Given the description of an element on the screen output the (x, y) to click on. 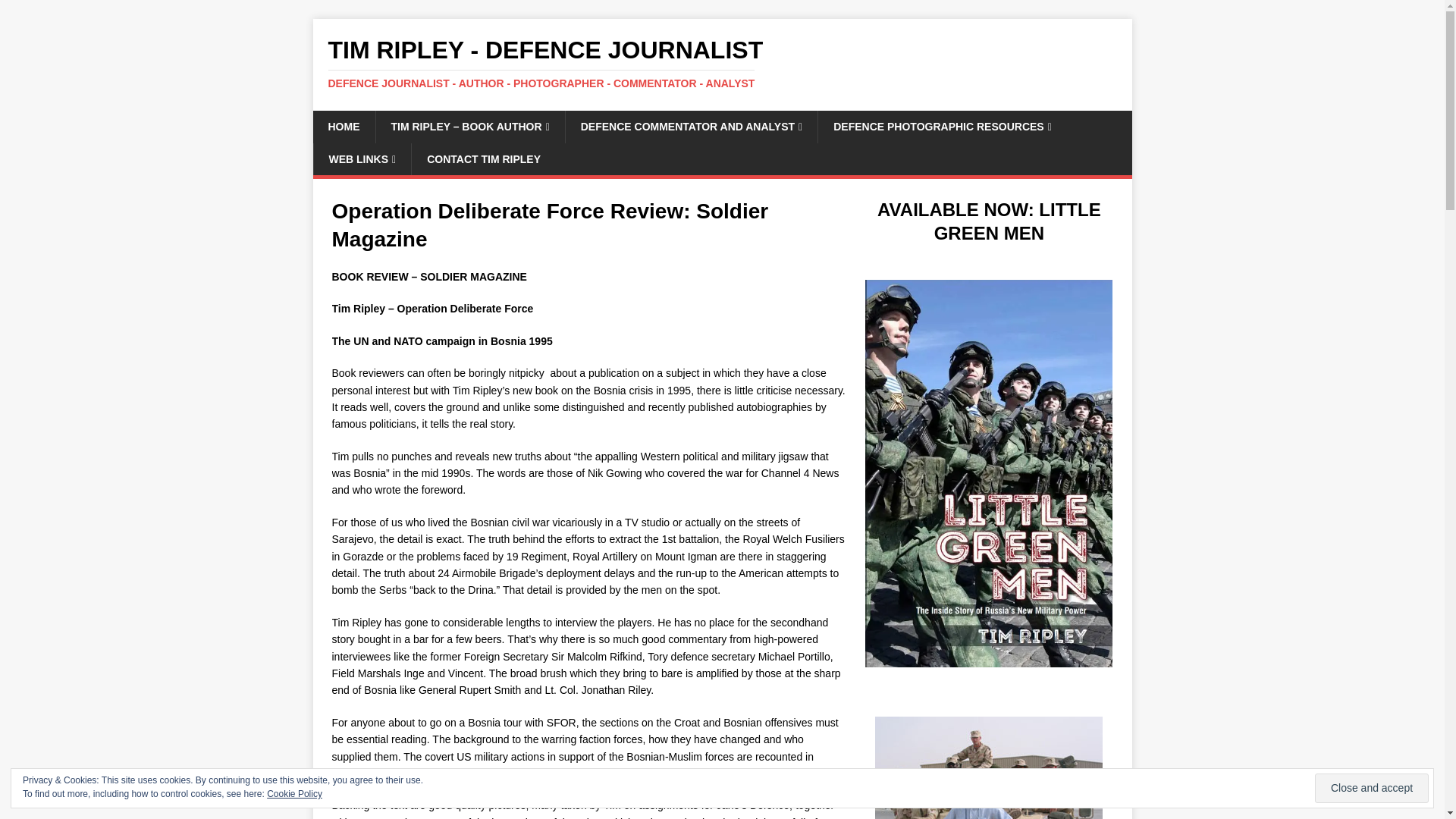
Tim Ripley - Defence Journalist (721, 63)
Close and accept (1371, 788)
